Given the description of an element on the screen output the (x, y) to click on. 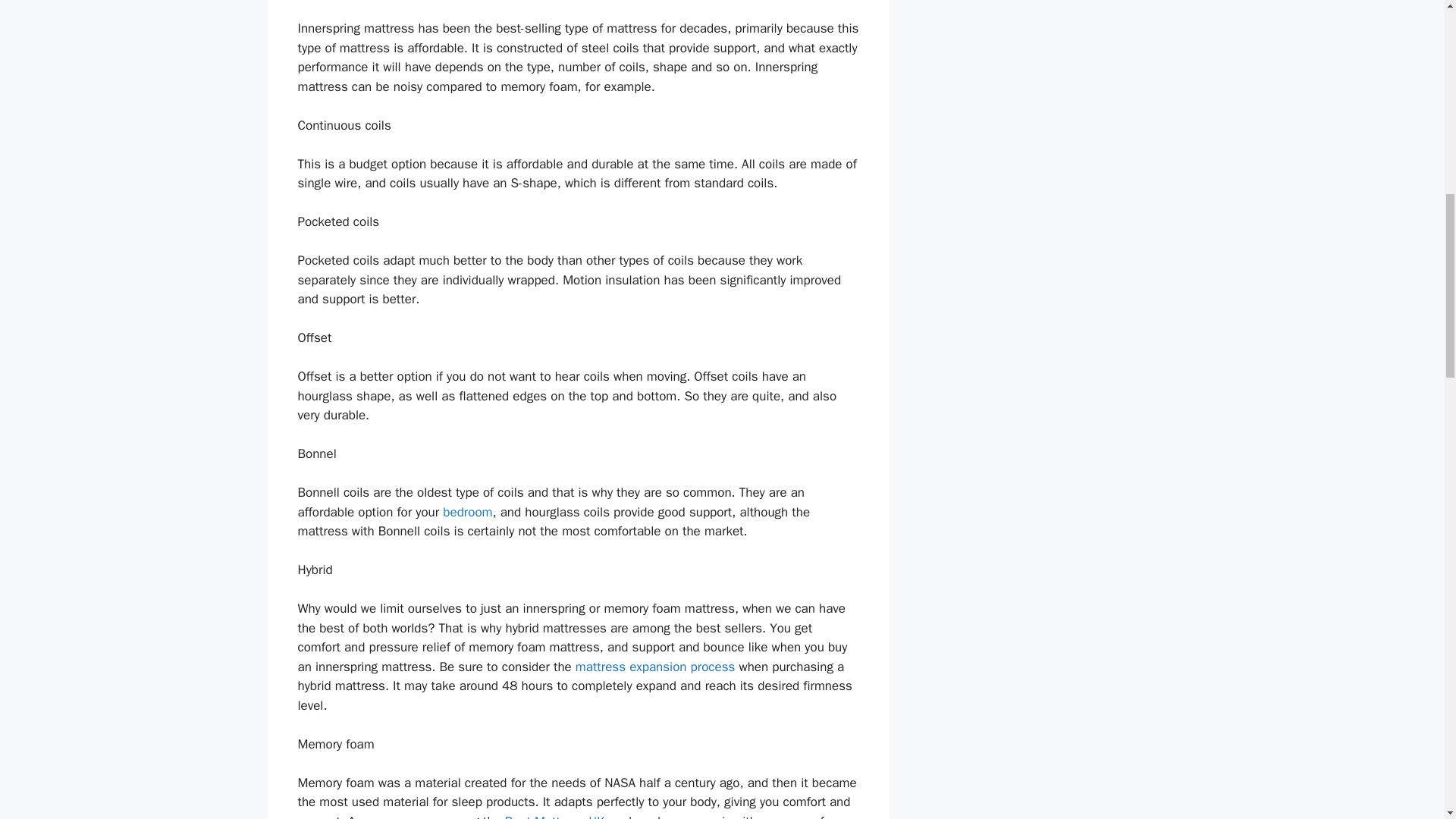
Scroll back to top (1406, 720)
Best Mattress UK (555, 816)
mattress expansion process (655, 666)
bedroom (467, 512)
